Given the description of an element on the screen output the (x, y) to click on. 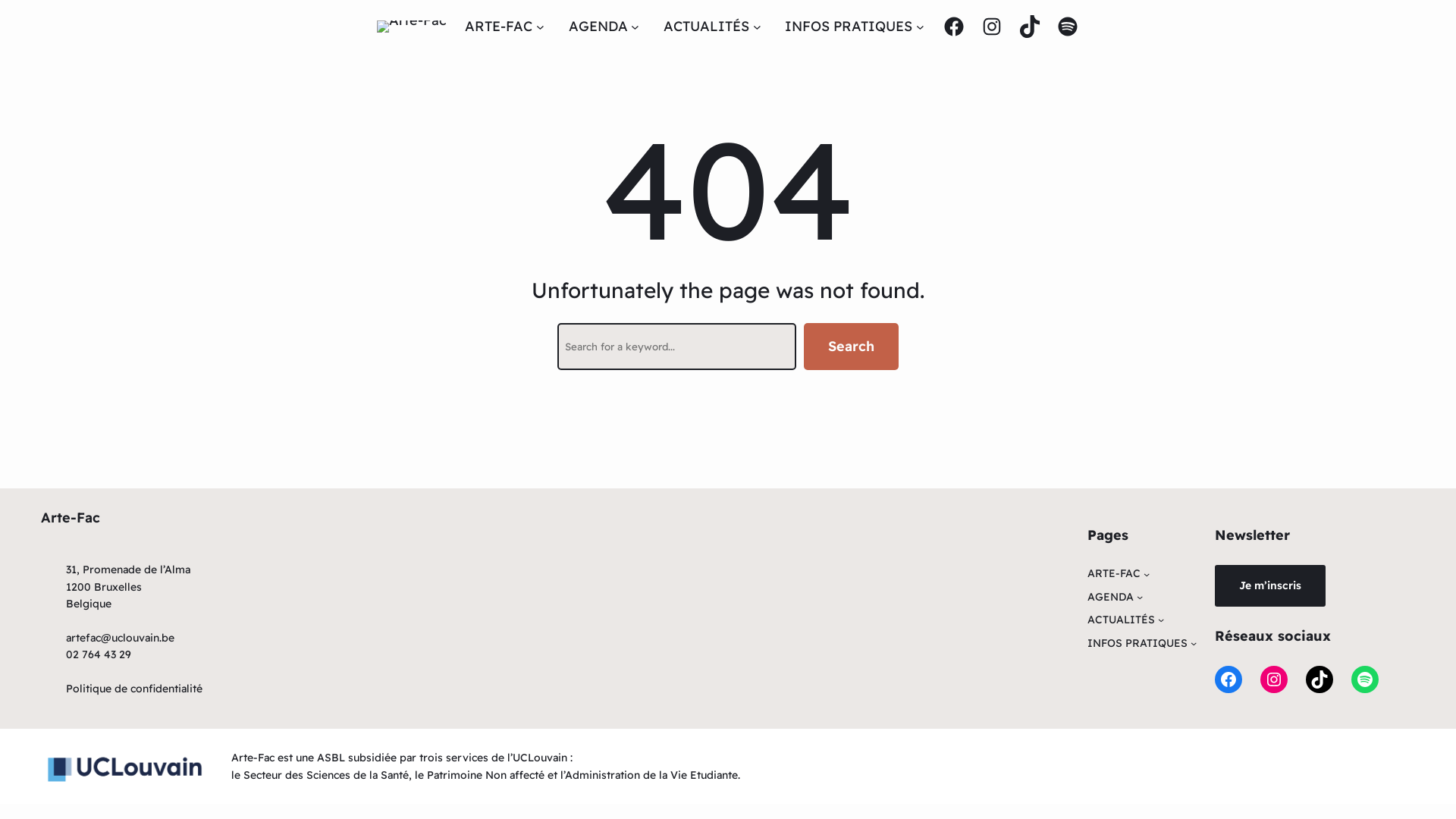
Arte-Fac Element type: text (70, 517)
TikTok Element type: text (1029, 26)
artefac@uclouvain.be Element type: text (119, 637)
Facebook Element type: text (1228, 679)
Instagram Element type: text (1273, 679)
AGENDA Element type: text (1110, 596)
02 764 43 29 Element type: text (98, 654)
Spotify Element type: text (1364, 679)
INFOS PRATIQUES Element type: text (1137, 642)
ARTE-FAC Element type: text (498, 26)
TikTok Element type: text (1319, 679)
Search Element type: text (850, 346)
INFOS PRATIQUES Element type: text (848, 26)
Instagram Element type: text (991, 26)
AGENDA Element type: text (597, 26)
ARTE-FAC Element type: text (1113, 572)
Spotify Element type: text (1067, 26)
Facebook Element type: text (953, 26)
